Given the description of an element on the screen output the (x, y) to click on. 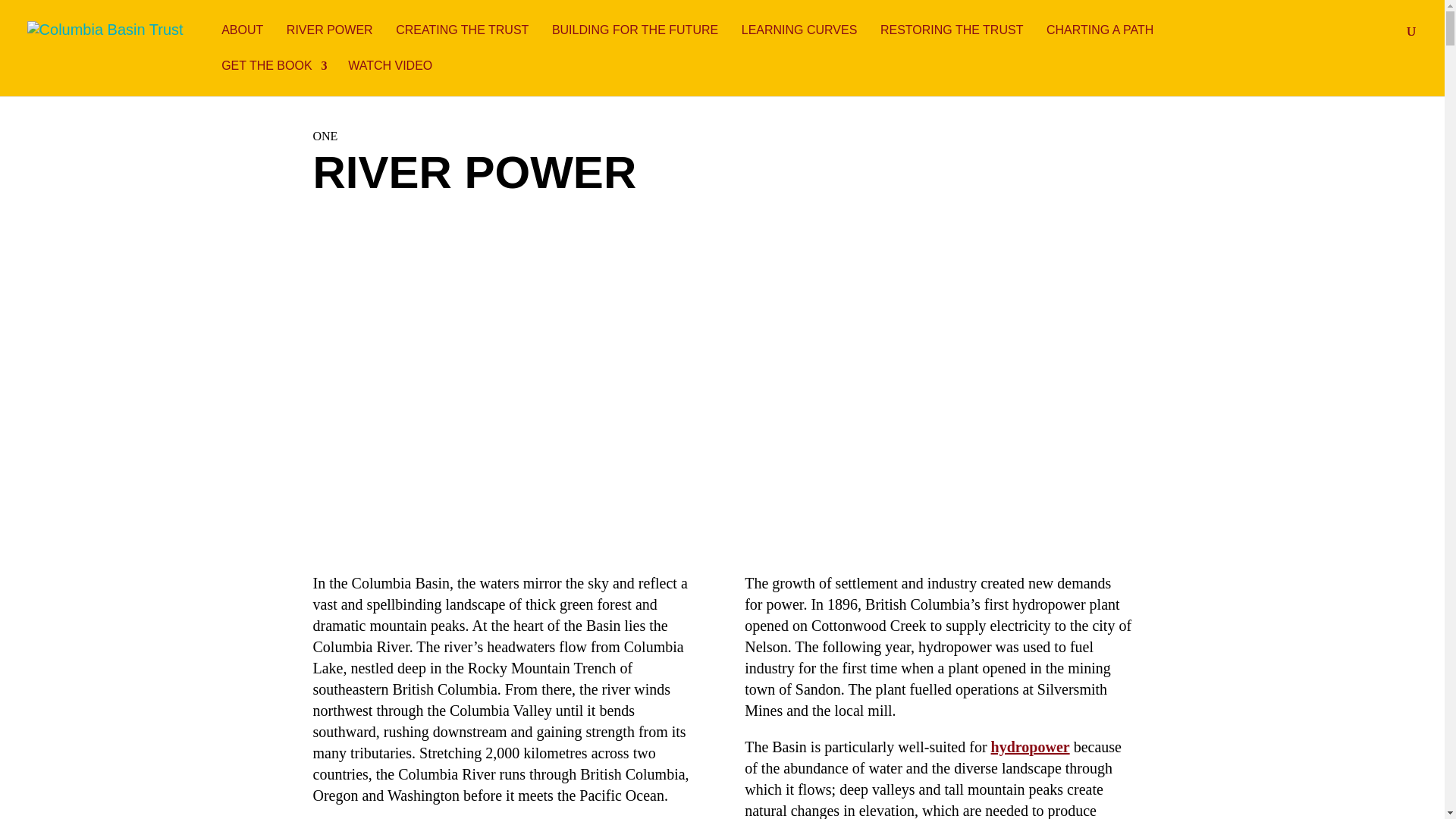
hydropower (1030, 746)
RESTORING THE TRUST (952, 42)
RIVER POWER (330, 42)
WATCH VIDEO (390, 78)
CHARTING A PATH (1101, 42)
BUILDING FOR THE FUTURE (635, 42)
GET THE BOOK (273, 78)
CREATING THE TRUST (463, 42)
LEARNING CURVES (800, 42)
ABOUT (242, 42)
